Given the description of an element on the screen output the (x, y) to click on. 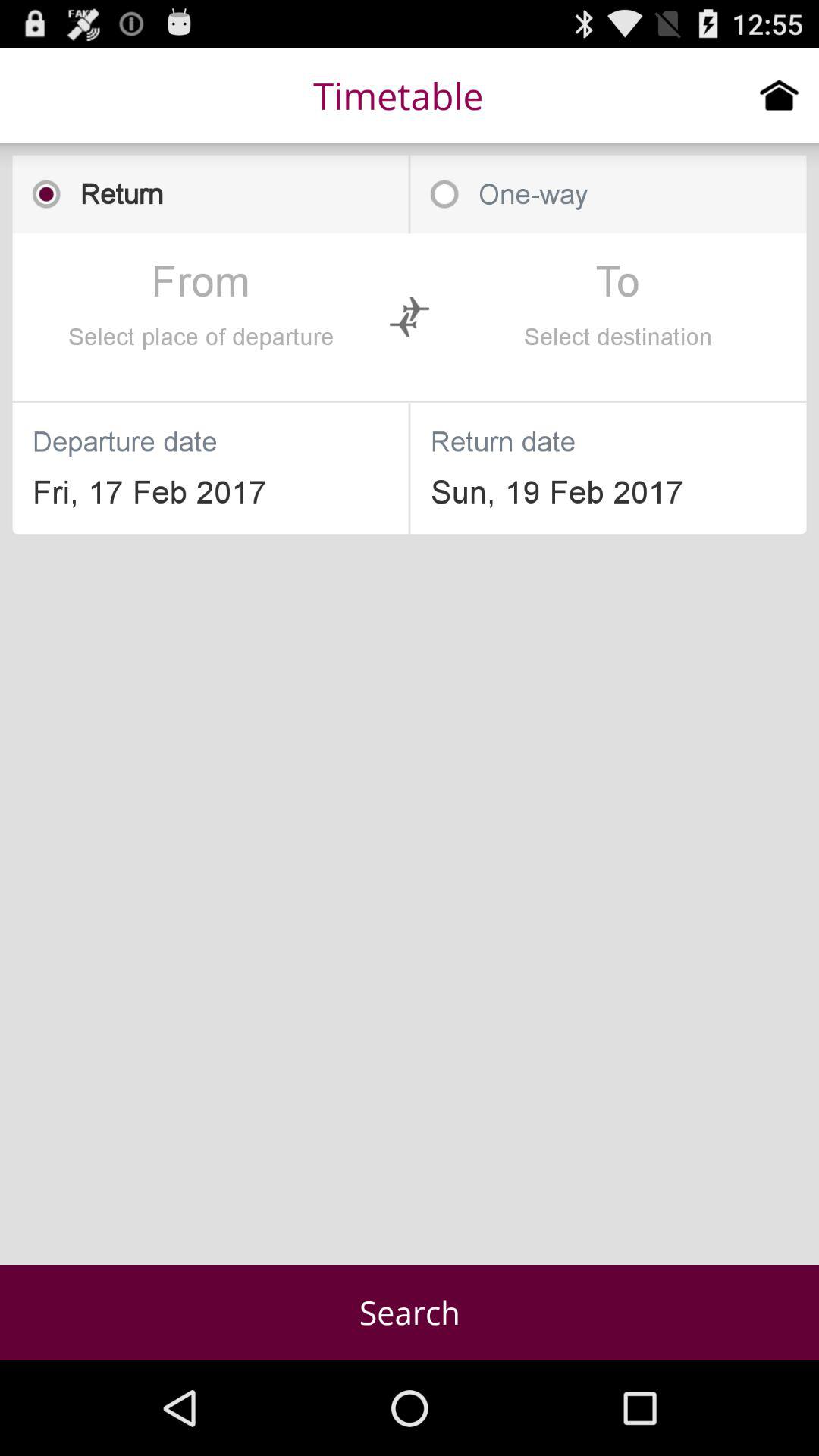
click home menu (779, 95)
